Given the description of an element on the screen output the (x, y) to click on. 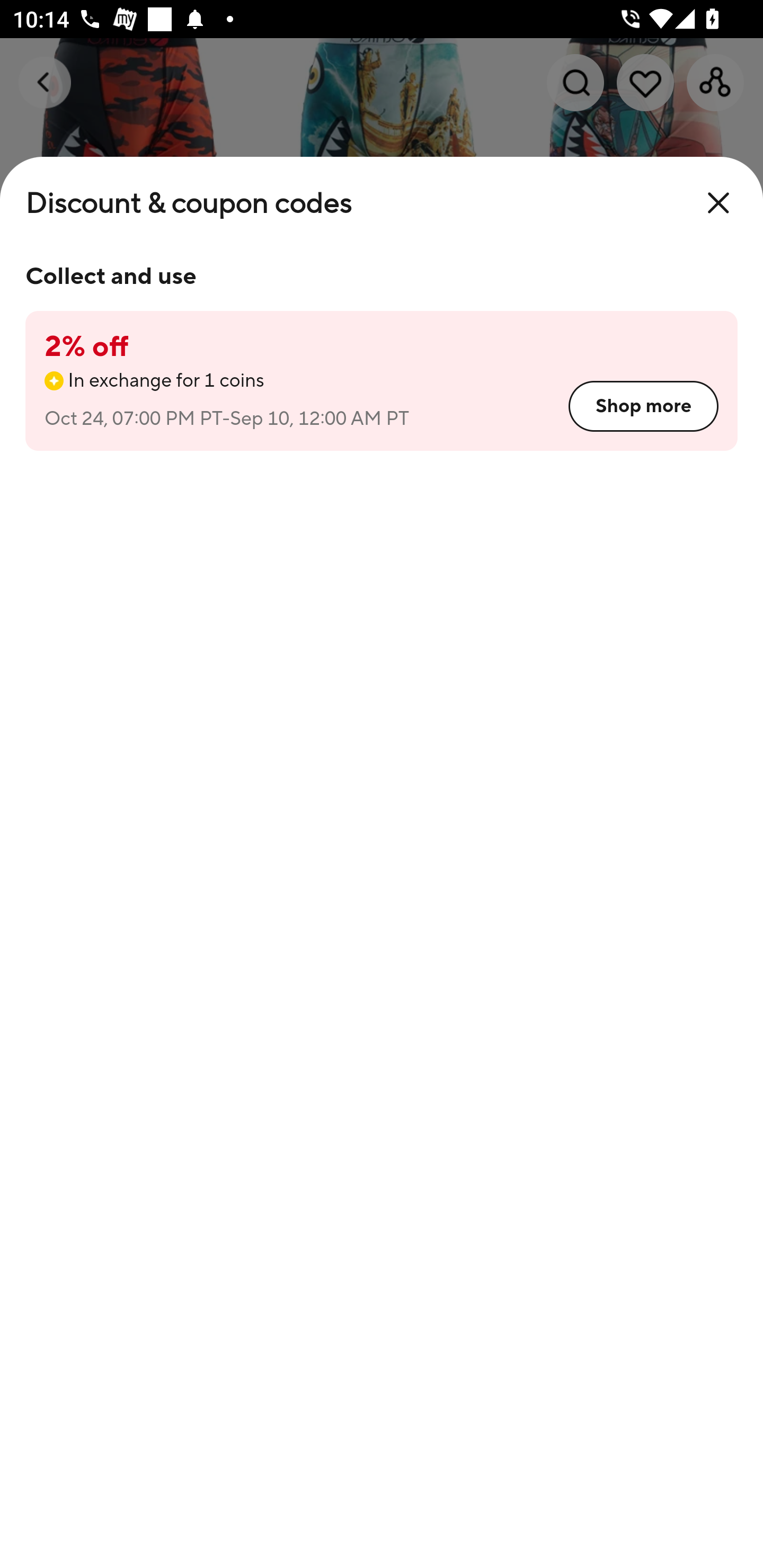
 (718, 202)
Shop more (642, 406)
